Given the description of an element on the screen output the (x, y) to click on. 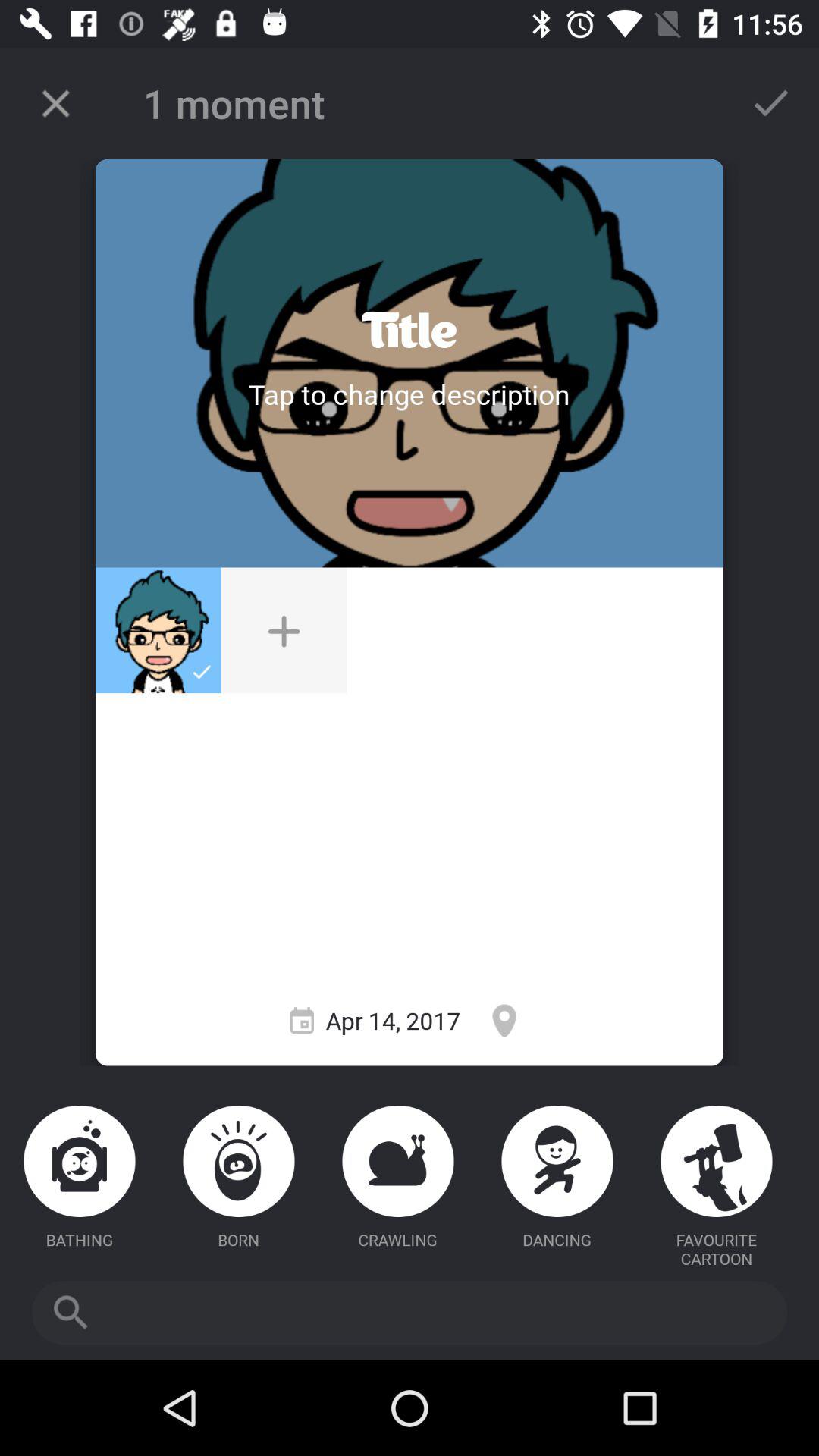
cancel note (55, 103)
